Given the description of an element on the screen output the (x, y) to click on. 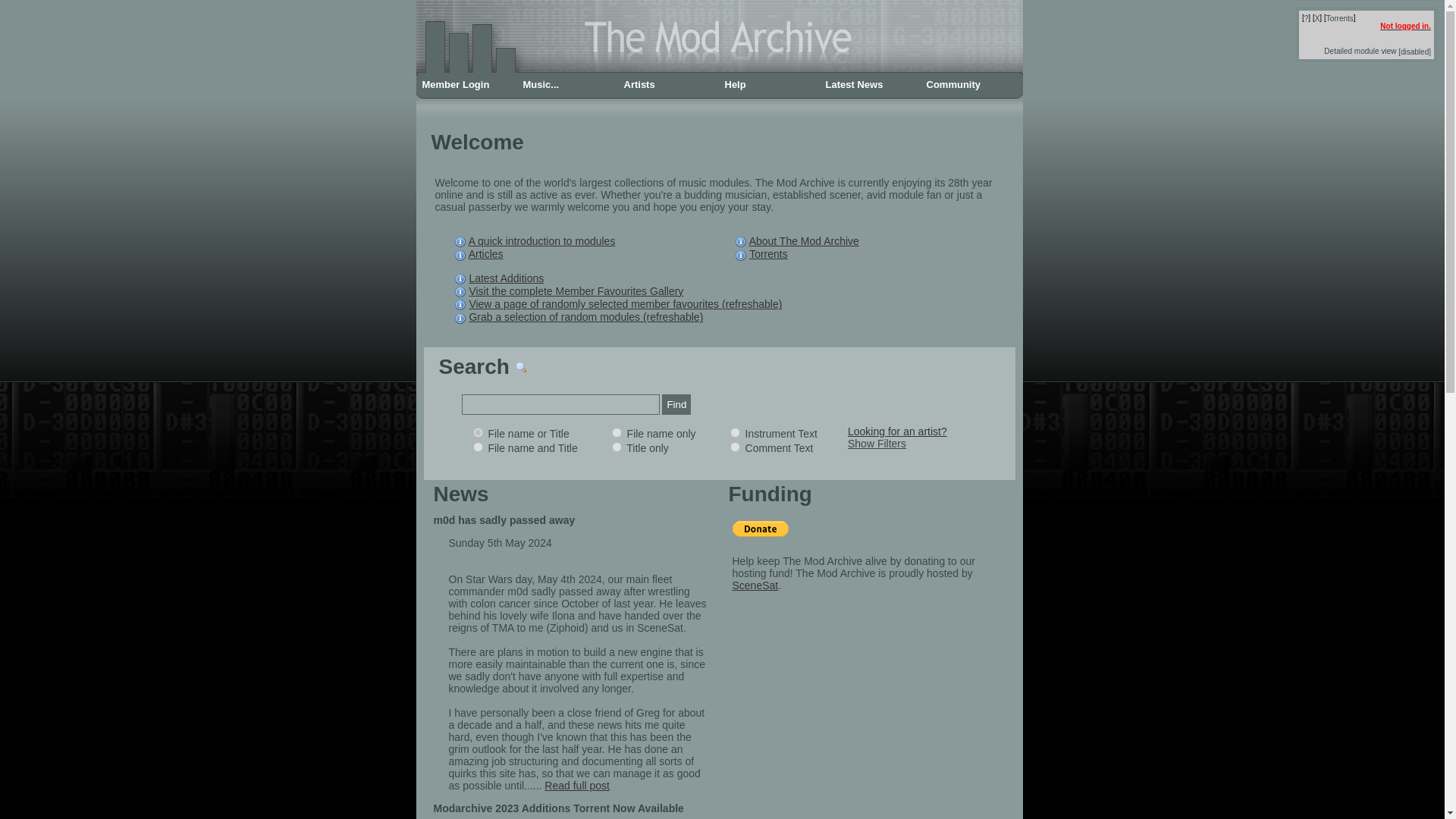
SceneSat (755, 585)
The Mod Archive Website, Since 1996 (718, 71)
Member Login (465, 84)
Artists (667, 84)
Donate (760, 528)
Torrents (1340, 18)
Music... (566, 84)
songtitle (616, 447)
filename (616, 432)
Modarchive Torrents (1340, 18)
